Given the description of an element on the screen output the (x, y) to click on. 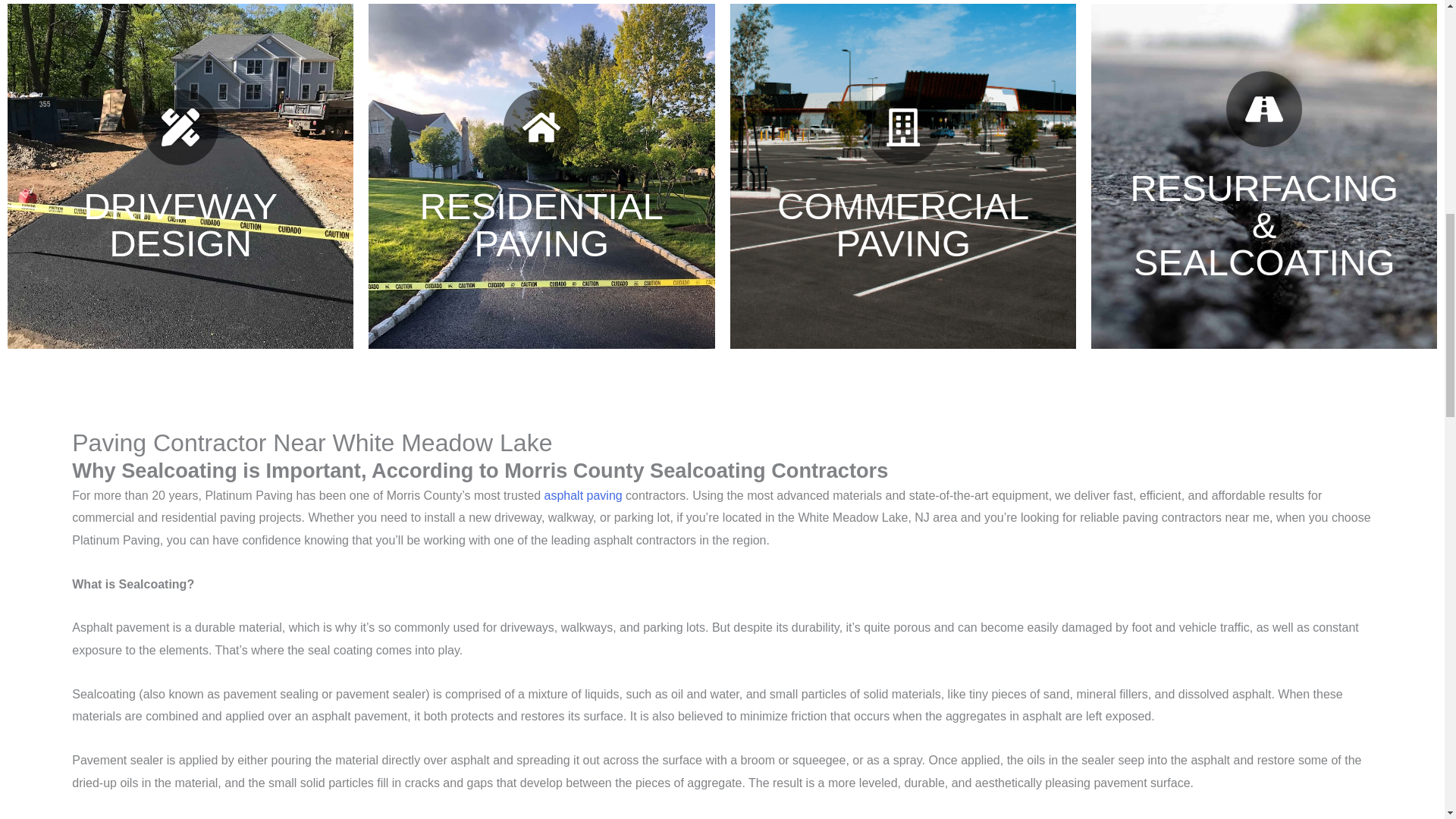
Get A Quote (551, 147)
Get A Quote (1274, 147)
Asphalt Paving (582, 495)
asphalt paving (582, 495)
Get A Quote (190, 160)
Get A Quote (912, 147)
